Given the description of an element on the screen output the (x, y) to click on. 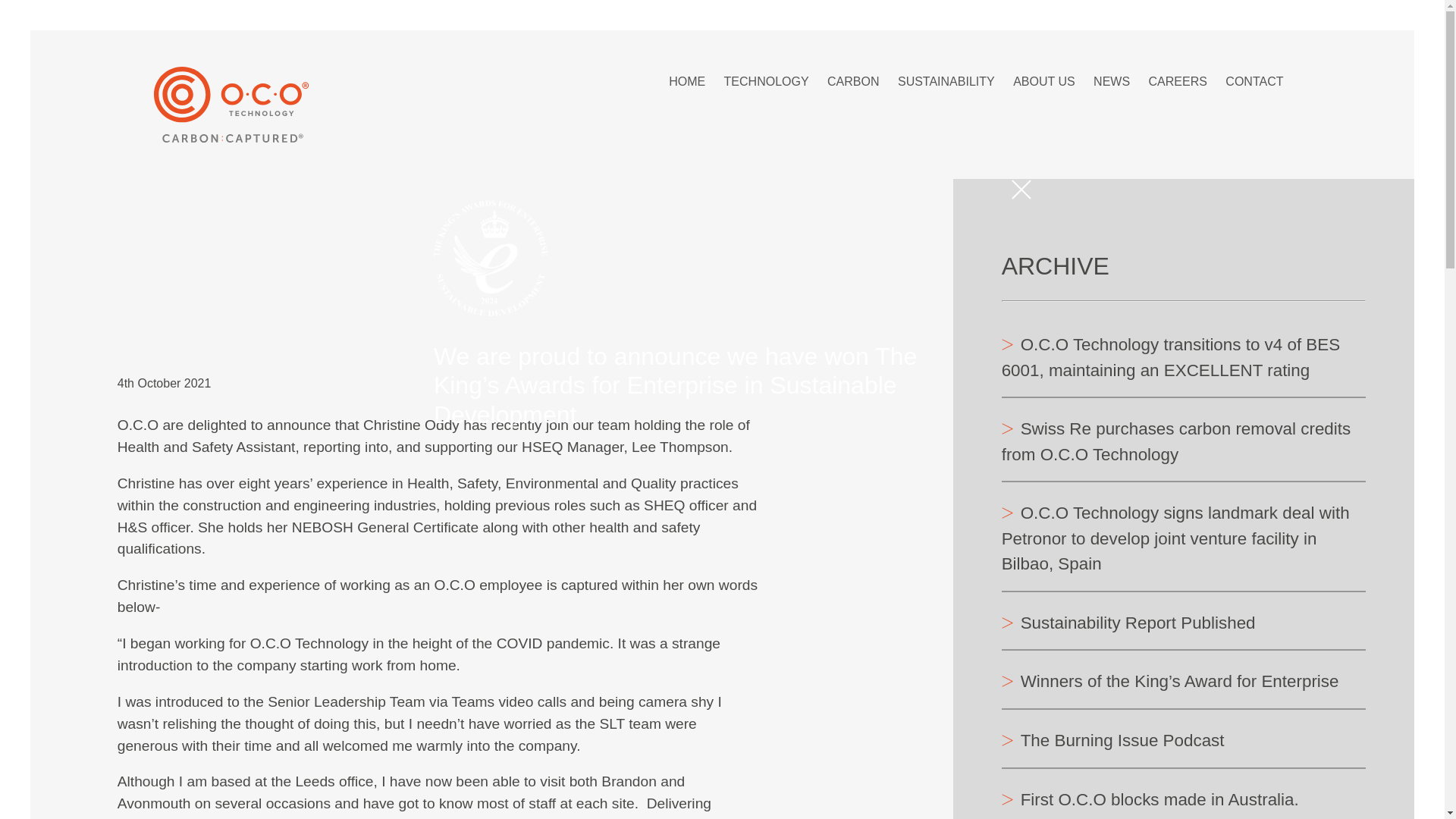
CAREERS (1177, 79)
CONTACT (1253, 79)
Sustainability Report Published (1128, 624)
The Burning Issue Podcast (1112, 741)
First O.C.O blocks made in Australia. (1149, 800)
SUSTAINABILITY (946, 79)
ABOUT US (1044, 79)
